Given the description of an element on the screen output the (x, y) to click on. 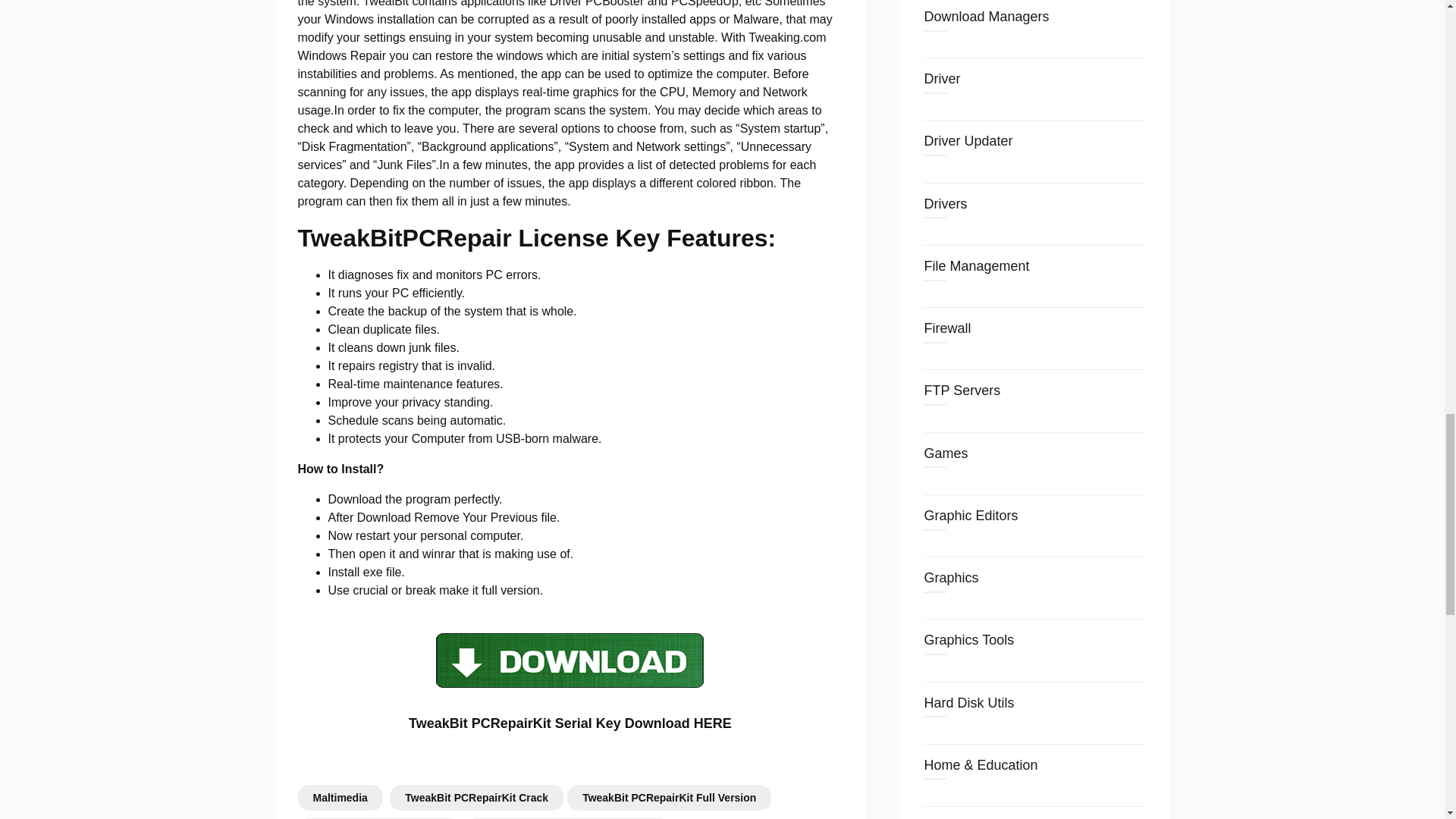
Maltimedia (339, 797)
TweakBit PCRepairKit Crack (476, 797)
TweakBit PCRepairKit Full Version (669, 797)
